Given the description of an element on the screen output the (x, y) to click on. 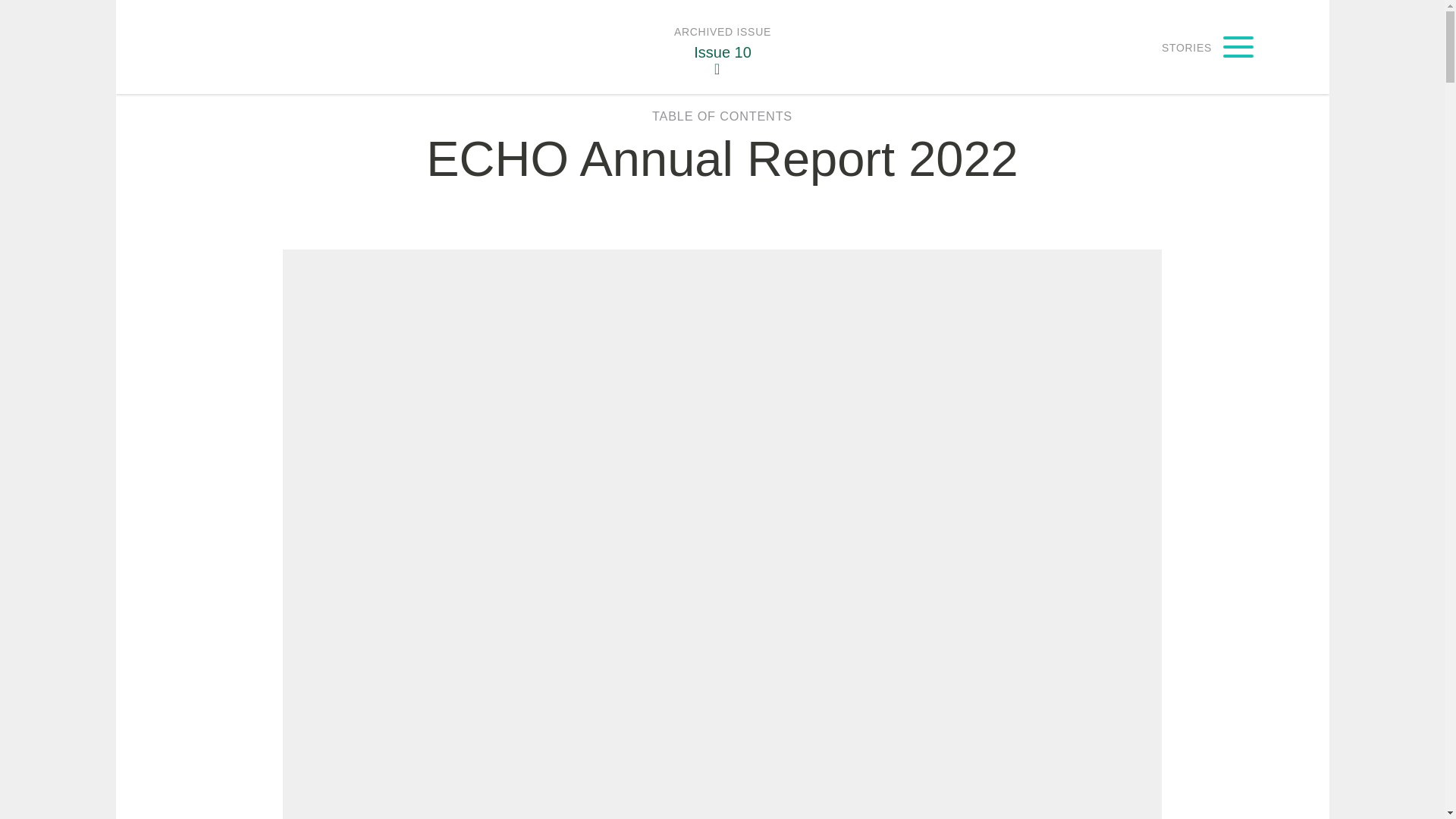
Issue 10 (722, 46)
